Given the description of an element on the screen output the (x, y) to click on. 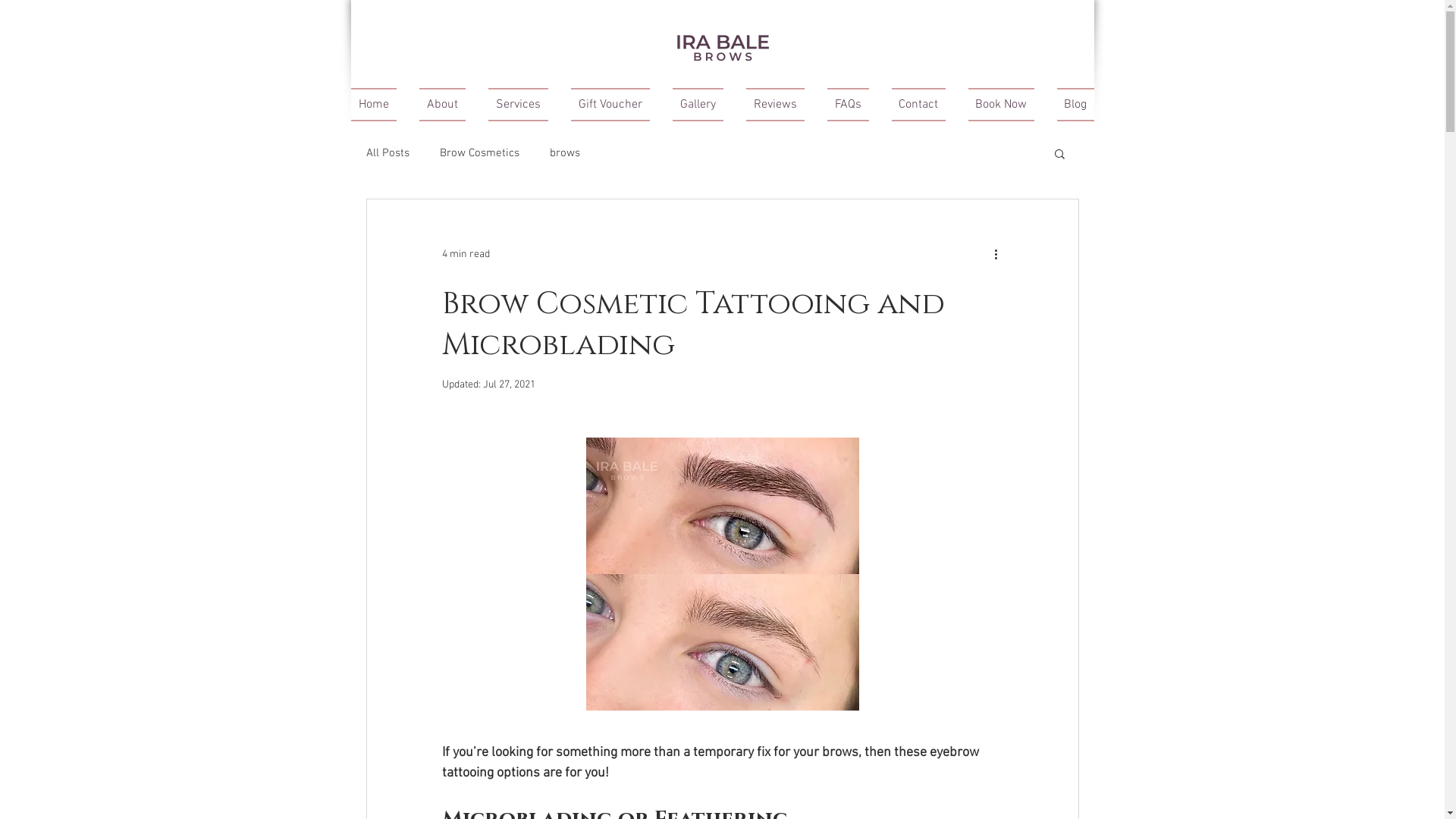
Gallery Element type: text (697, 104)
Services Element type: text (517, 104)
Gift Voucher Element type: text (610, 104)
Book Now Element type: text (1001, 104)
Ira Bale Brows - South Yarra Element type: hover (721, 46)
brows Element type: text (564, 153)
All Posts Element type: text (386, 153)
Reviews Element type: text (774, 104)
About Element type: text (441, 104)
Home Element type: text (378, 104)
Blog Element type: text (1068, 104)
Contact Element type: text (917, 104)
Brow Cosmetics Element type: text (479, 153)
FAQs Element type: text (847, 104)
